Given the description of an element on the screen output the (x, y) to click on. 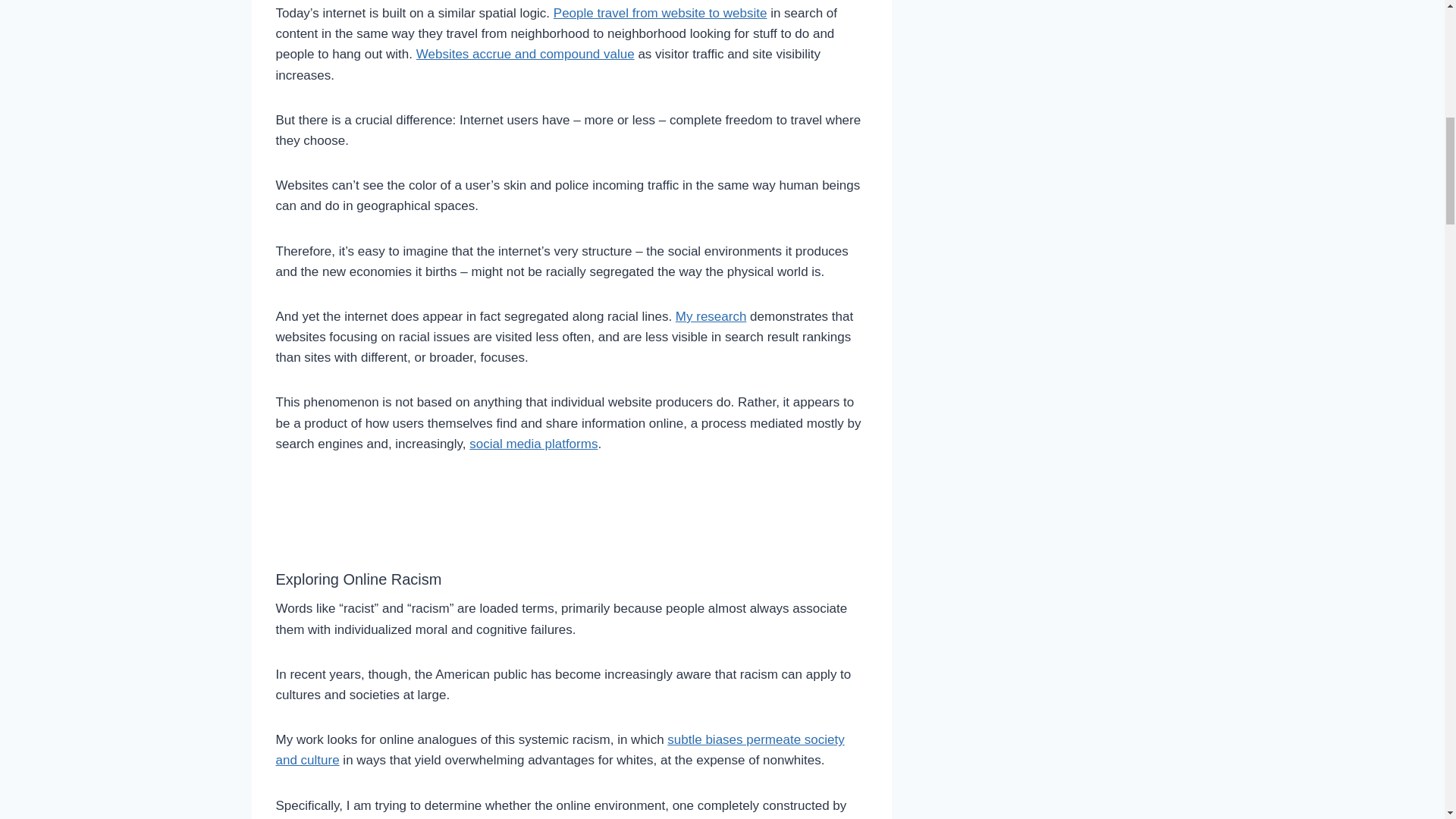
My research (710, 316)
social media platforms (532, 443)
Websites accrue and compound value (525, 53)
subtle biases permeate society and culture (560, 749)
People travel from website to website (660, 12)
